Given the description of an element on the screen output the (x, y) to click on. 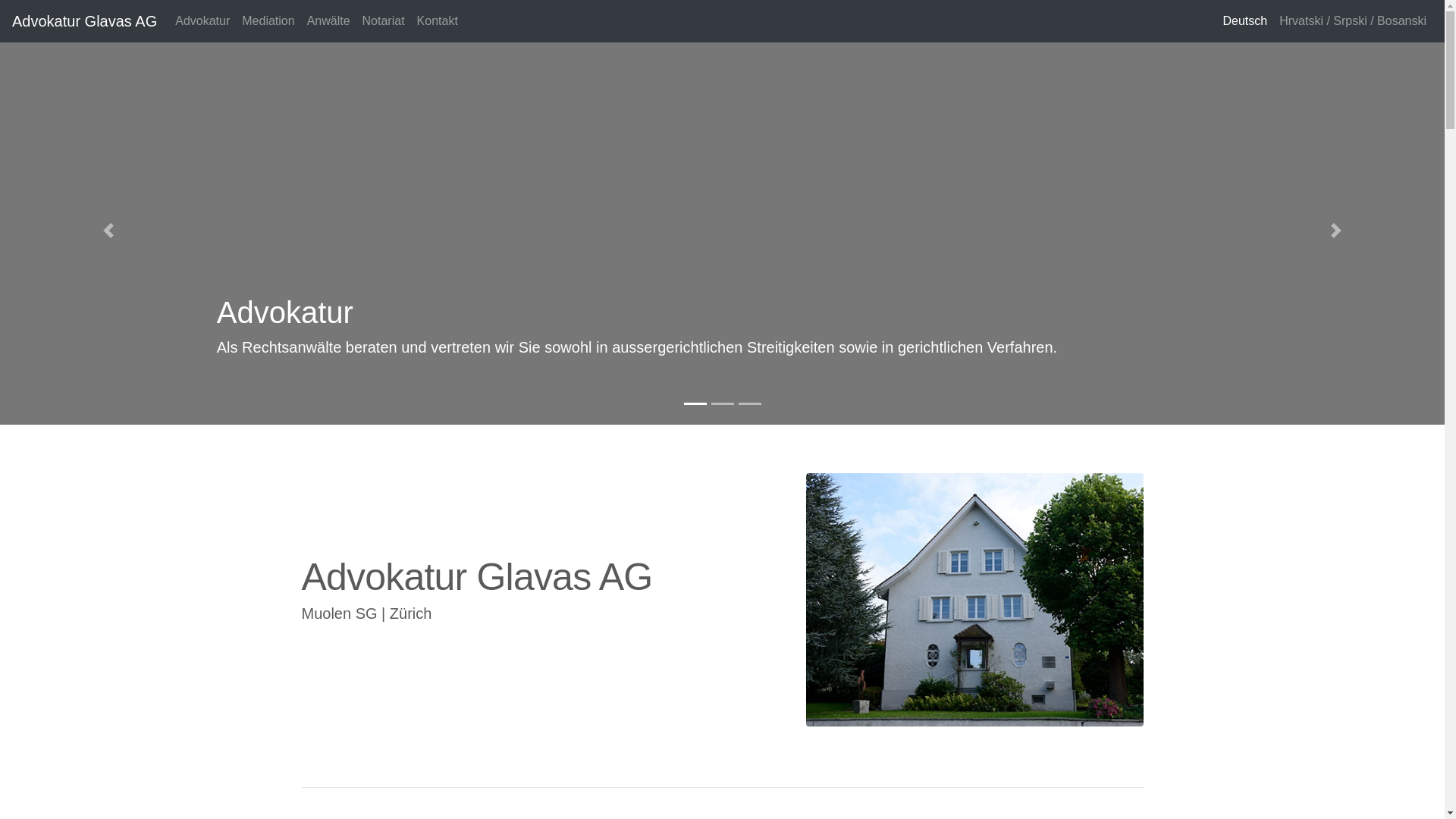
Advokatur Glavas AG Element type: text (84, 21)
Kontakt Element type: text (437, 21)
Notariat Element type: text (383, 21)
Advokatur Element type: text (202, 21)
Mediation Element type: text (267, 21)
Deutsch Element type: text (1244, 21)
Next Element type: text (1335, 230)
Previous Element type: text (108, 230)
Hrvatski / Srpski / Bosanski Element type: text (1352, 21)
